Given the description of an element on the screen output the (x, y) to click on. 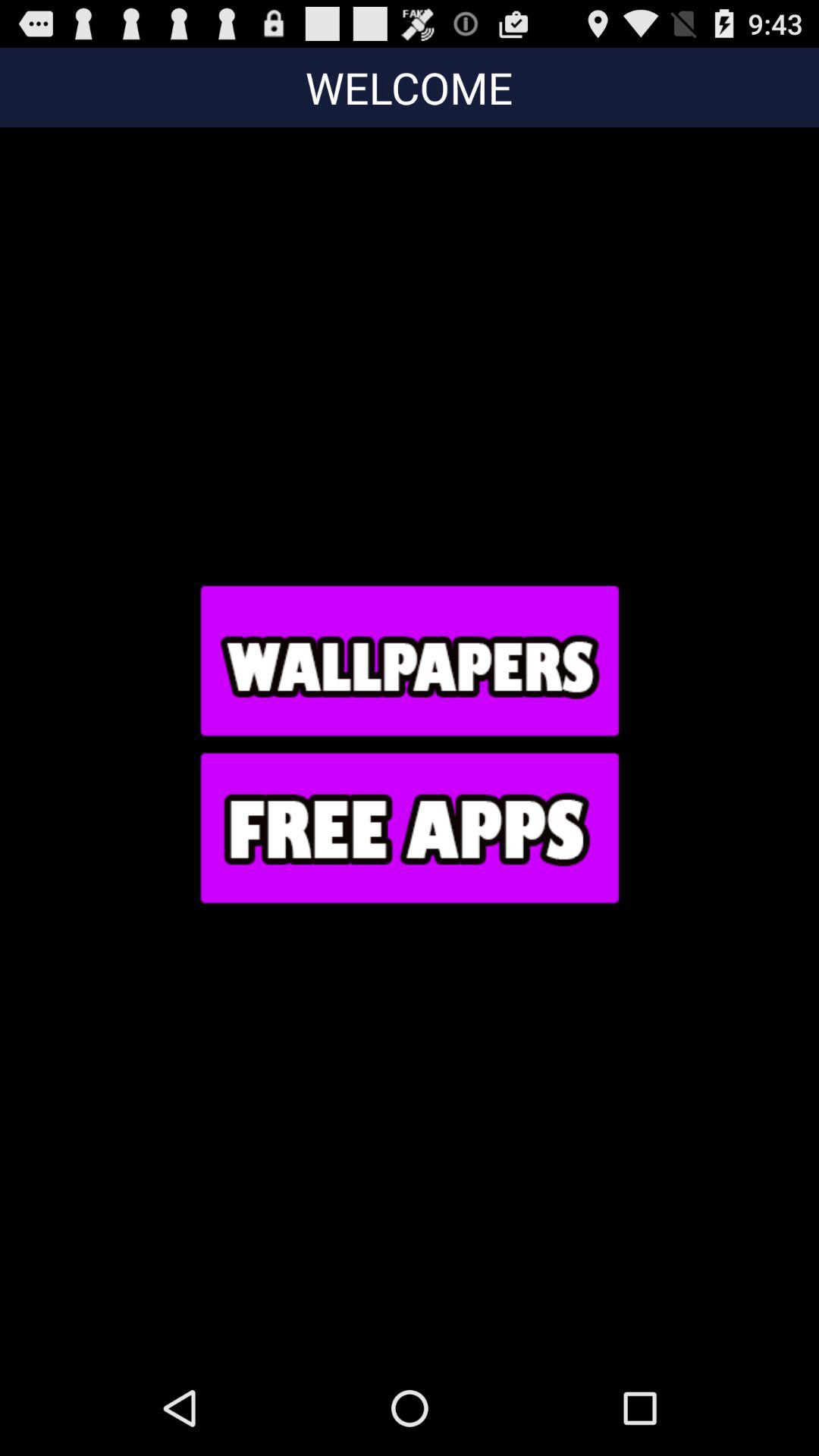
go to wallpapers (408, 659)
